Given the description of an element on the screen output the (x, y) to click on. 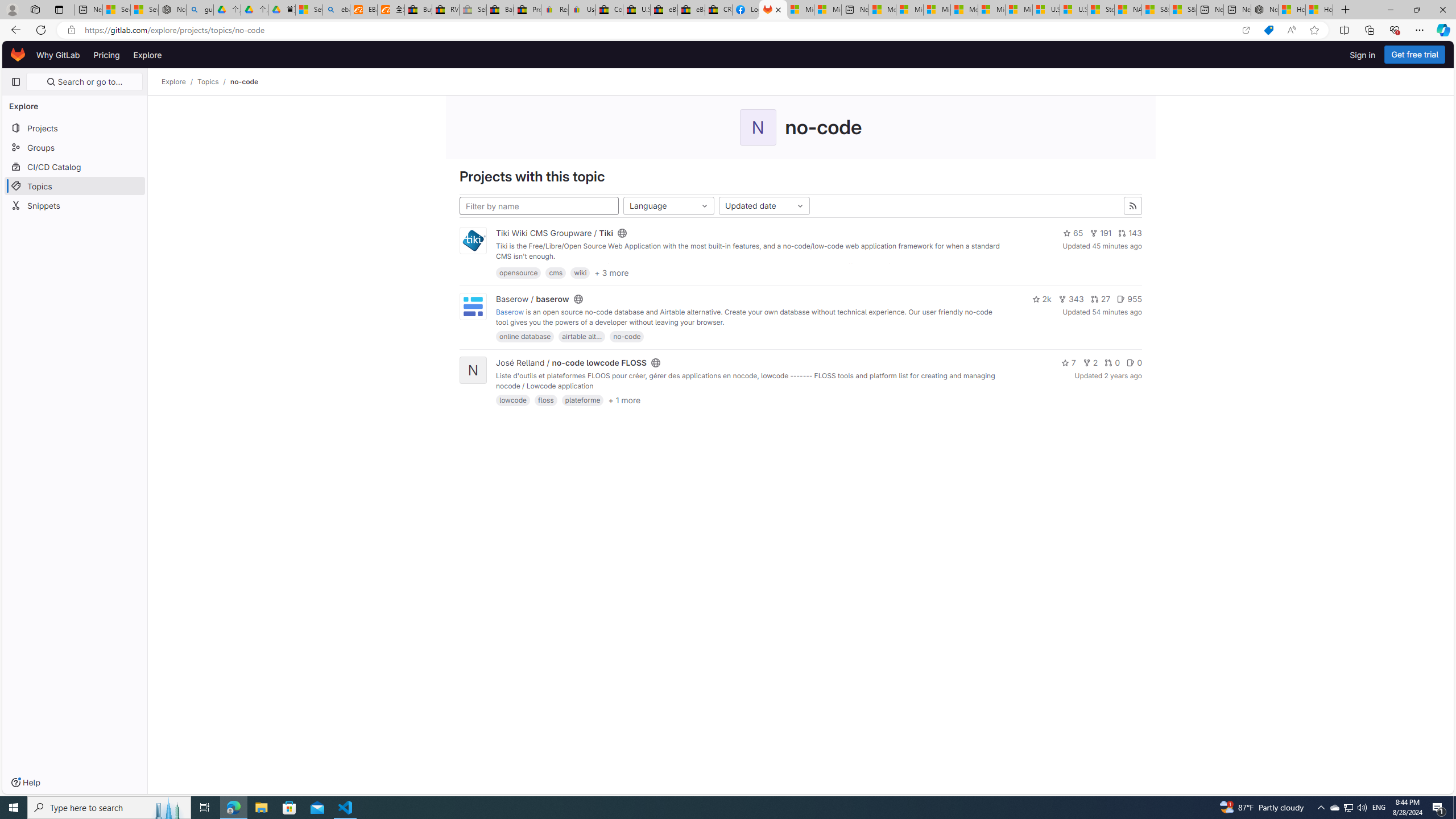
How to Use a Monitor With Your Closed Laptop (1319, 9)
Snippets (74, 205)
+ 1 more (624, 399)
Class: s16 dropdown-menu-toggle-icon (799, 206)
CI/CD Catalog (74, 166)
wiki (579, 272)
lowcode (512, 399)
Topics (74, 185)
plateforme (582, 399)
Subscribe to the new projects feed (1132, 205)
955 (1128, 299)
